Given the description of an element on the screen output the (x, y) to click on. 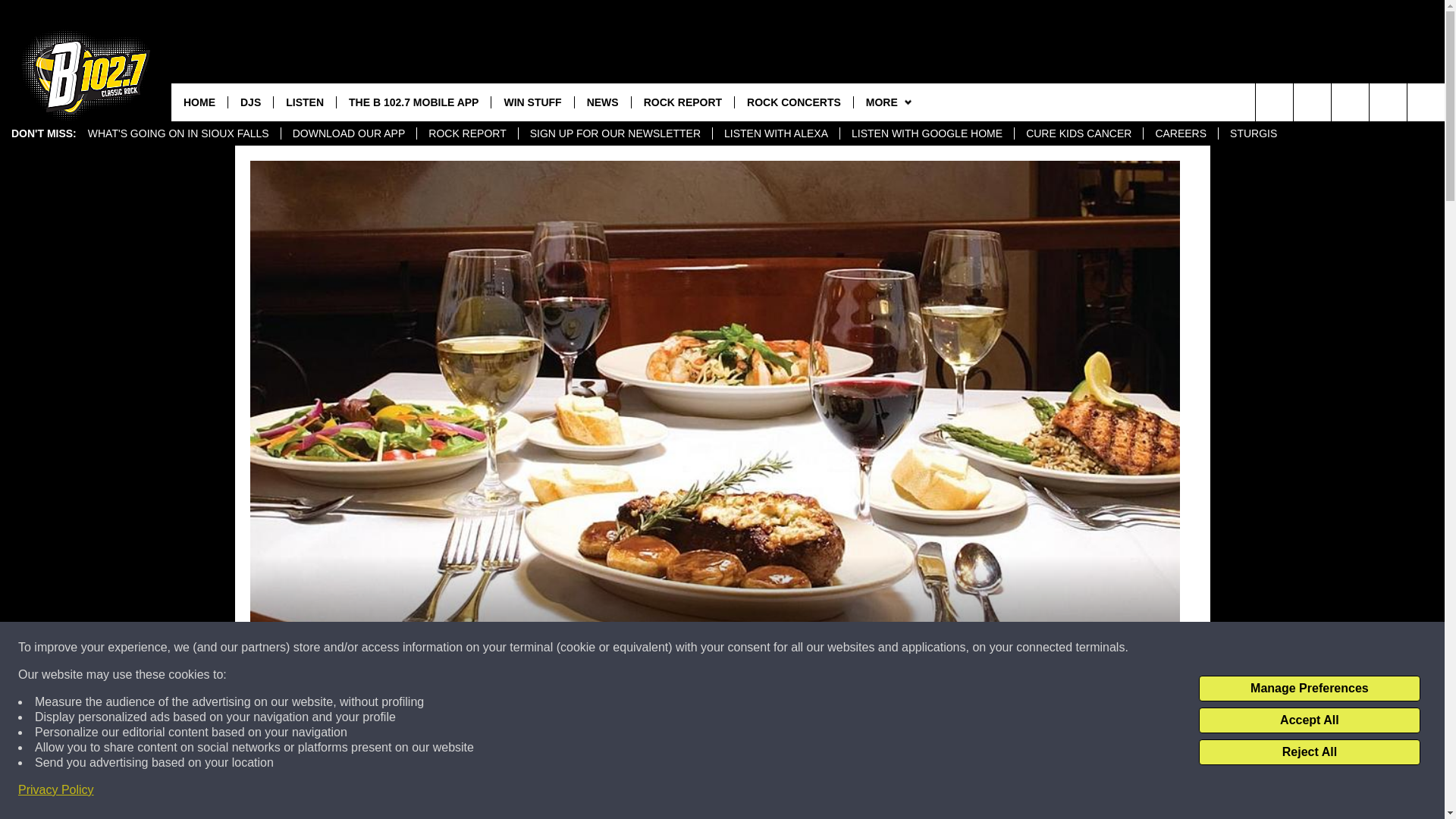
Accept All (1309, 720)
Manage Preferences (1309, 688)
CAREERS (1179, 133)
Reject All (1309, 751)
WIN STUFF (531, 102)
ROCK REPORT (466, 133)
Share on Facebook (517, 791)
DJS (250, 102)
HOME (199, 102)
Share on Twitter (912, 791)
SIGN UP FOR OUR NEWSLETTER (614, 133)
DOWNLOAD OUR APP (348, 133)
LISTEN WITH ALEXA (775, 133)
LISTEN (304, 102)
CURE KIDS CANCER (1077, 133)
